Given the description of an element on the screen output the (x, y) to click on. 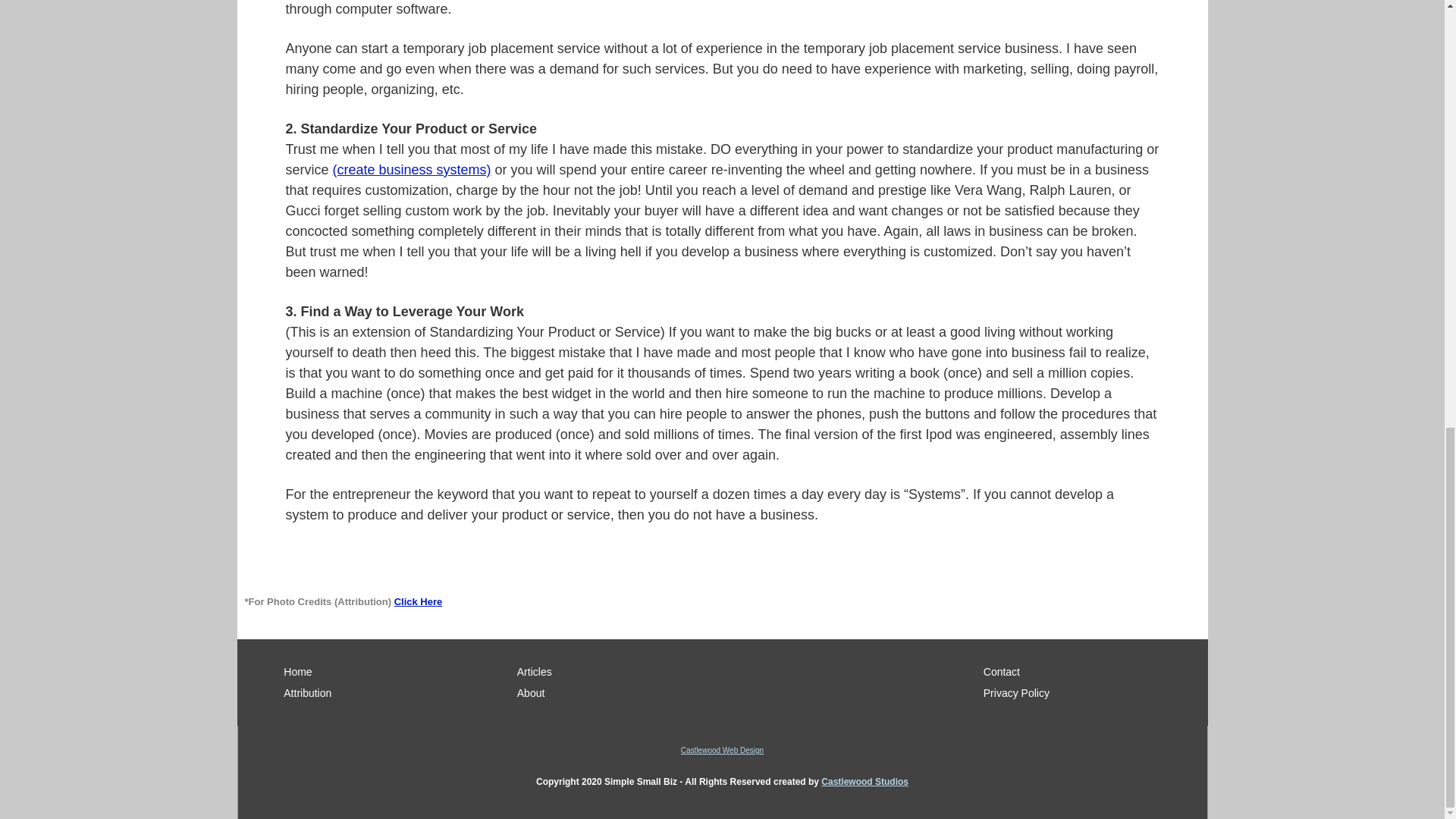
Articles (619, 671)
Home (386, 671)
Create Business Systems (412, 169)
Castlewood Studios (864, 781)
Castlewood Web Design (721, 750)
Contact (1086, 671)
About (619, 693)
Click Here (418, 601)
Privacy Policy (1086, 693)
Attribution (386, 693)
